Given the description of an element on the screen output the (x, y) to click on. 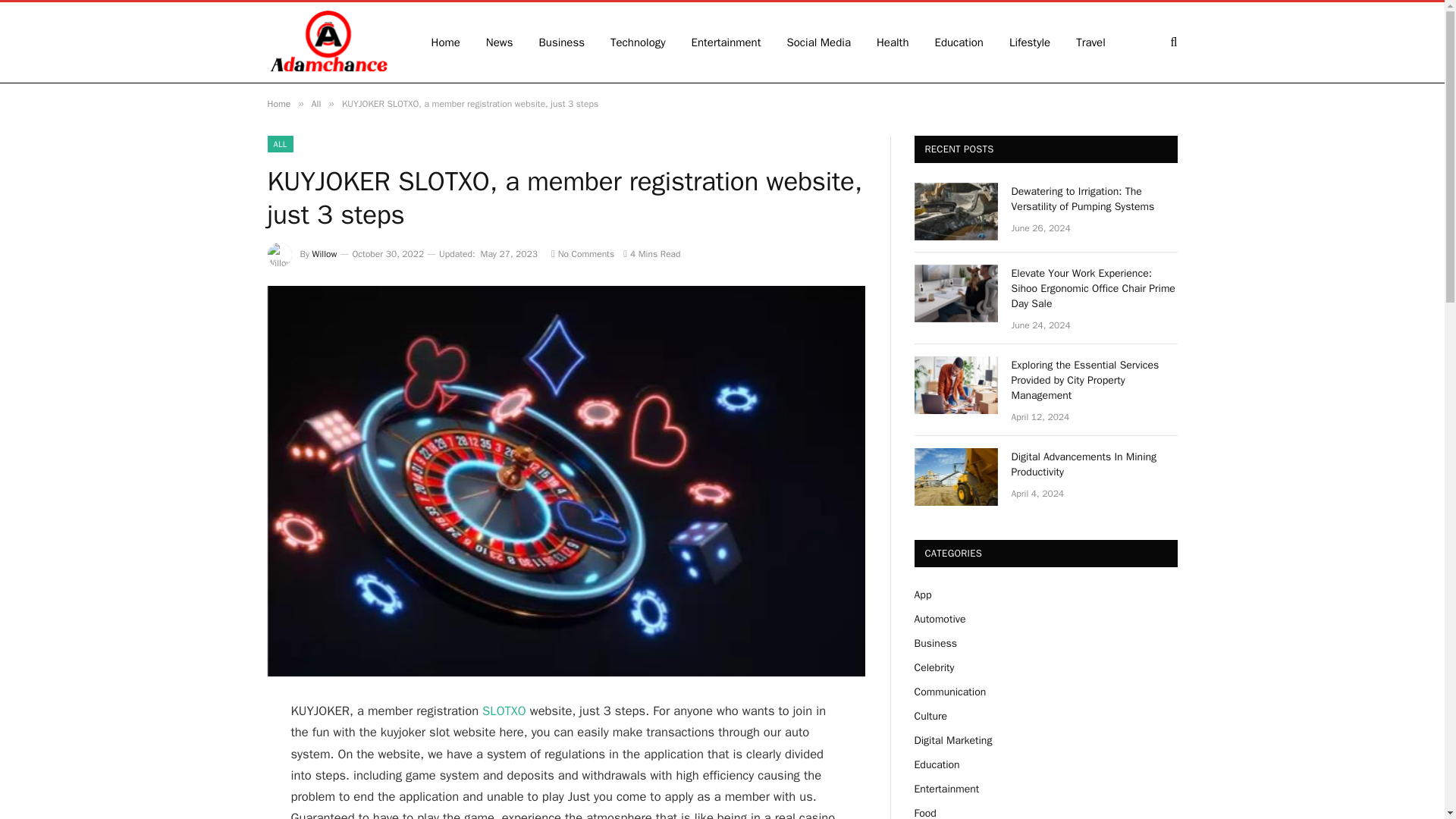
Education (958, 42)
No Comments (582, 254)
Digital Advancements In Mining Productivity (955, 476)
Technology (637, 42)
Dewatering to Irrigation: The Versatility of Pumping Systems (1094, 199)
Travel (1090, 42)
Business (561, 42)
News (499, 42)
Health (892, 42)
Lifestyle (1028, 42)
Home (446, 42)
App (922, 594)
Posts by Willow (325, 254)
